Given the description of an element on the screen output the (x, y) to click on. 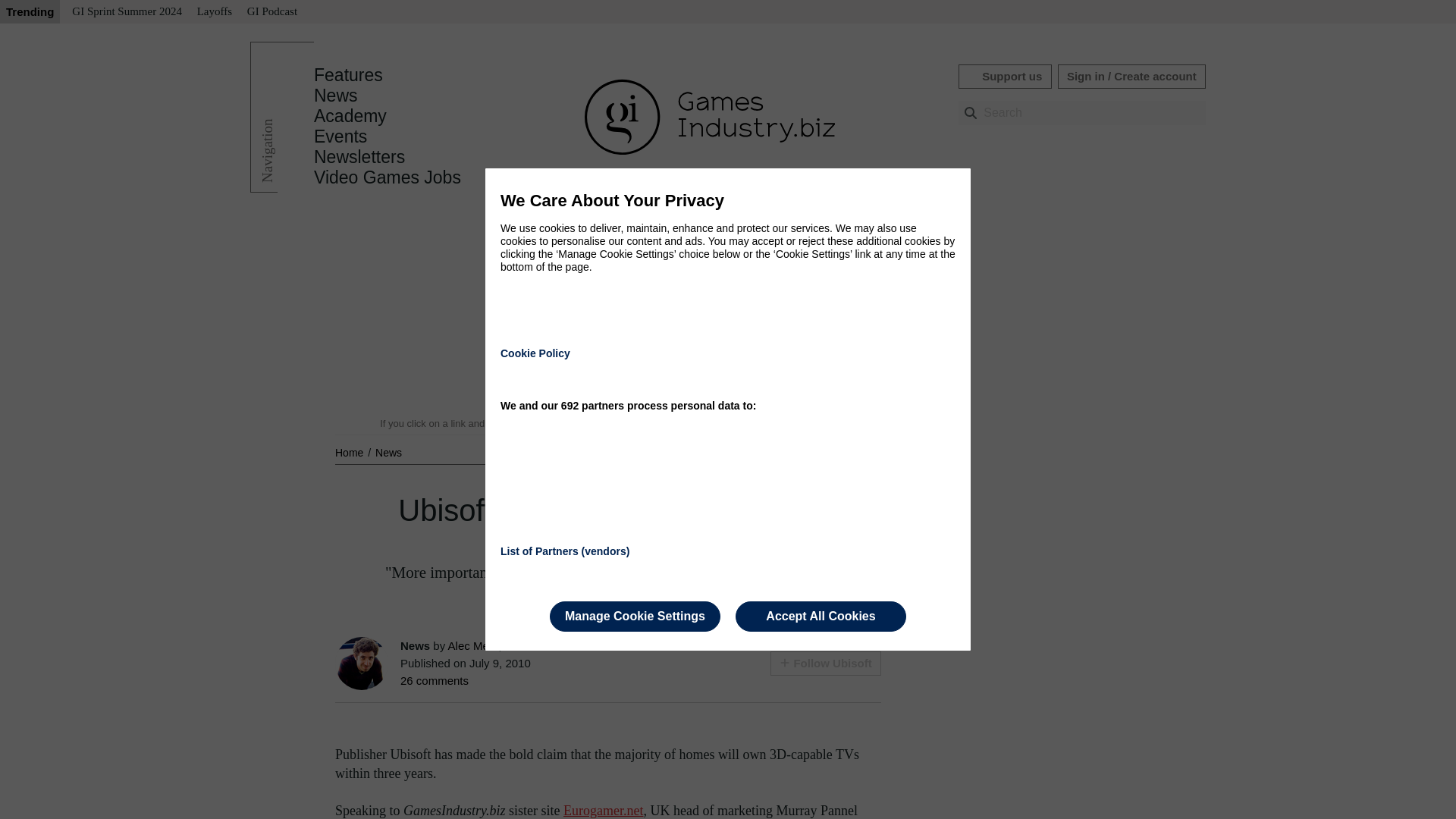
Features (348, 75)
Events (340, 136)
Video Games Jobs (387, 177)
Newsletters (359, 157)
Newsletters (359, 157)
Layoffs (214, 11)
News (388, 452)
Follow Ubisoft (825, 663)
News (336, 95)
Home (350, 452)
GI Podcast (271, 11)
Academy (350, 116)
Video Games Jobs (387, 177)
Layoffs (214, 11)
Events (340, 136)
